Given the description of an element on the screen output the (x, y) to click on. 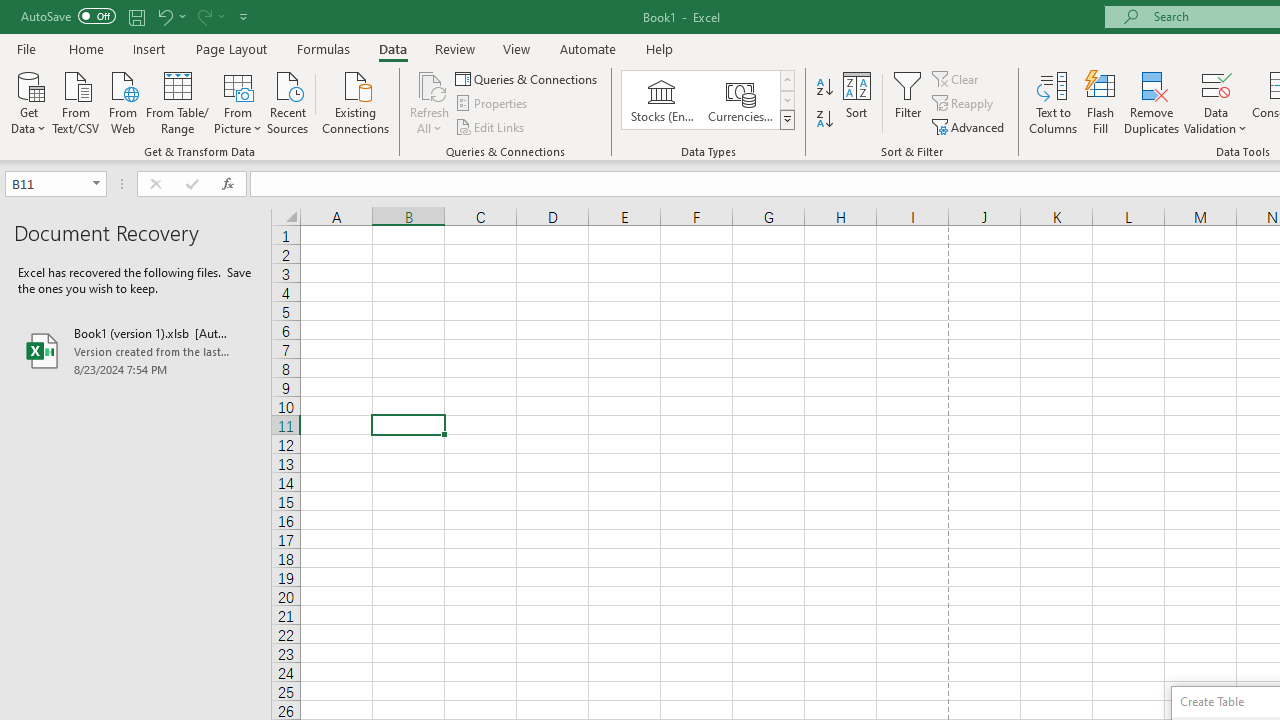
Text to Columns... (1053, 102)
Data Types (786, 120)
Filter (908, 102)
Recent Sources (287, 101)
Edit Links (491, 126)
From Web (122, 101)
Sort... (856, 102)
